Given the description of an element on the screen output the (x, y) to click on. 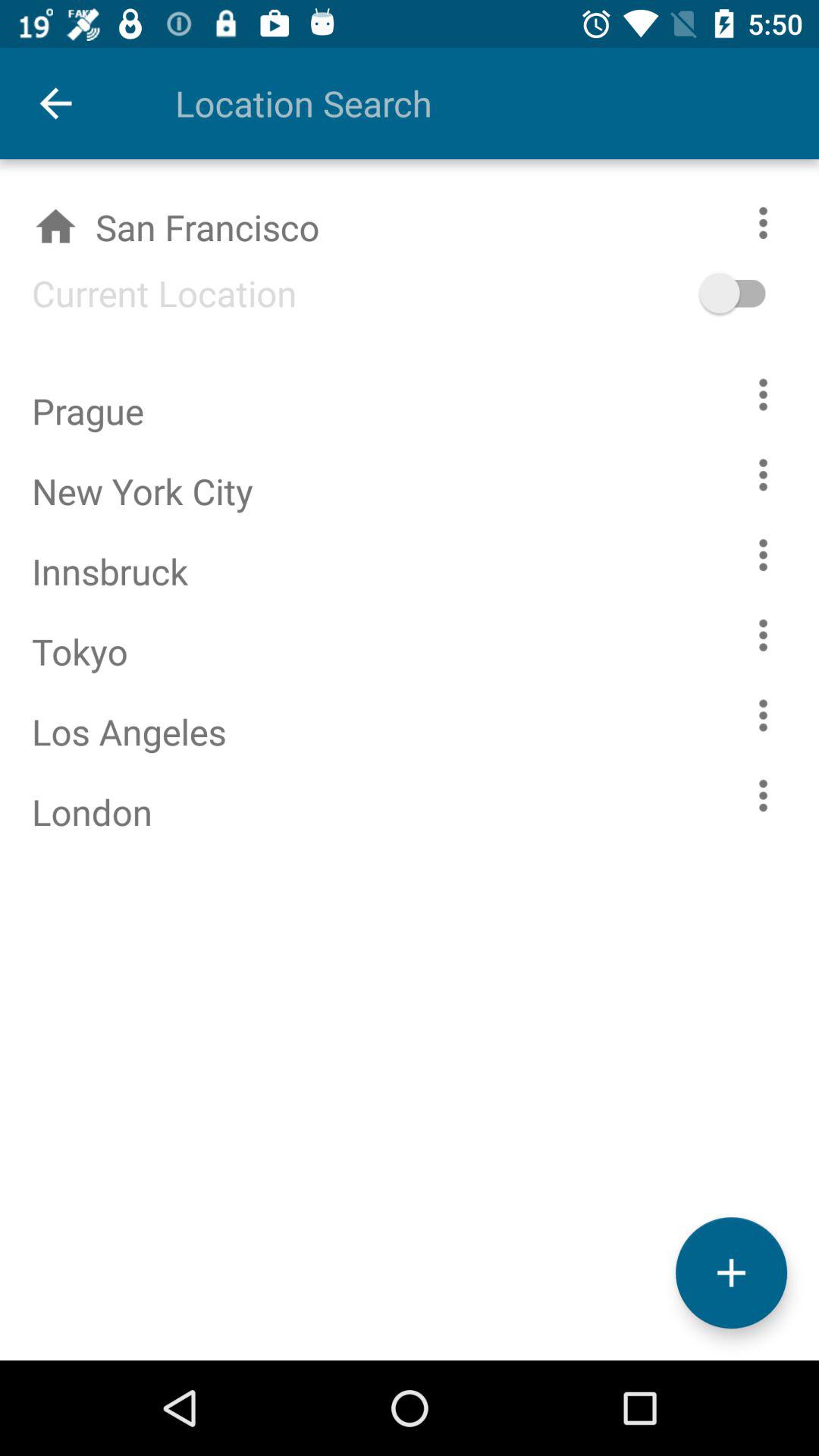
on/off (755, 293)
